Given the description of an element on the screen output the (x, y) to click on. 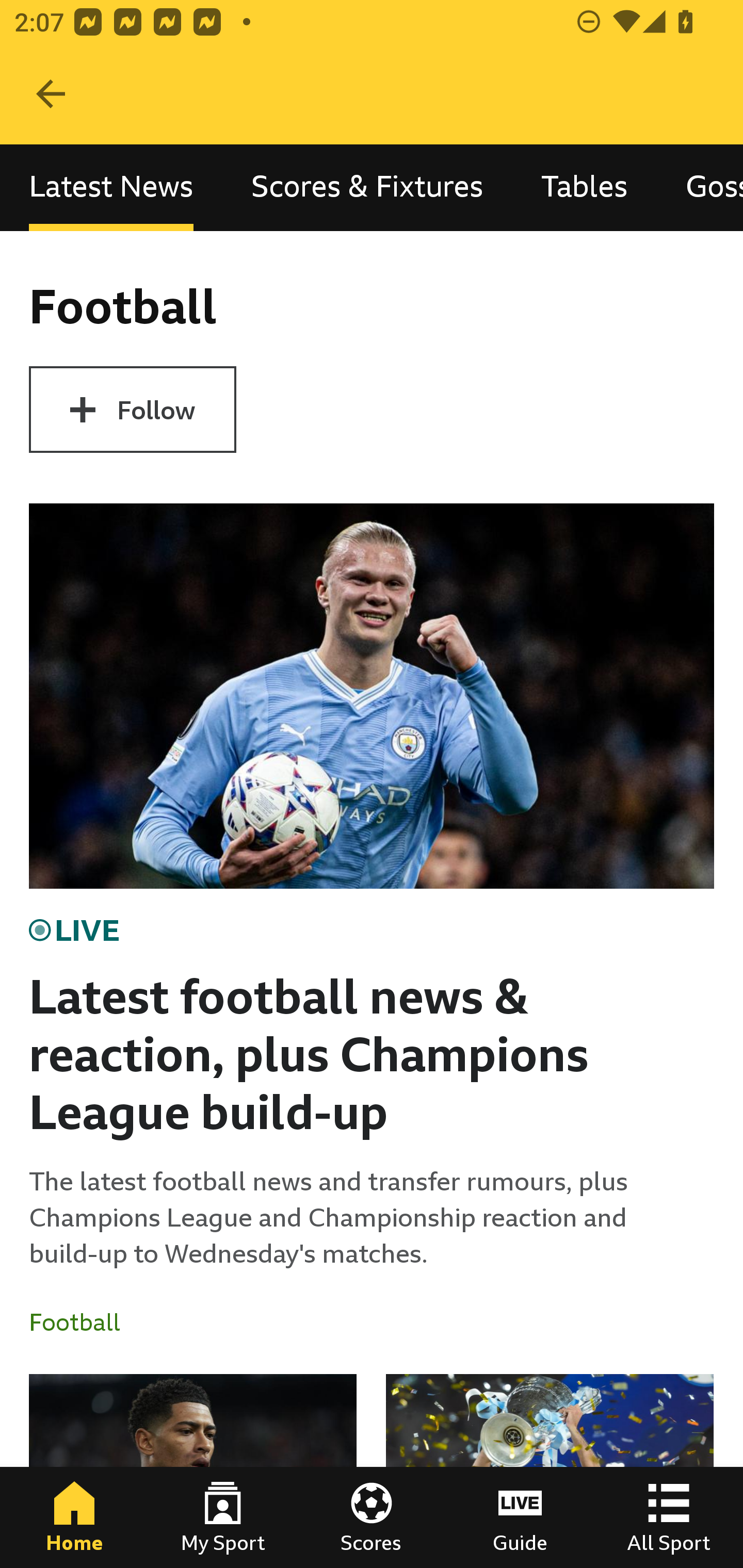
Navigate up (50, 93)
Latest News, selected Latest News (111, 187)
Scores & Fixtures (367, 187)
Tables (584, 187)
Gossip (699, 187)
Follow Football Follow (132, 409)
My Sport (222, 1517)
Scores (371, 1517)
Guide (519, 1517)
All Sport (668, 1517)
